Given the description of an element on the screen output the (x, y) to click on. 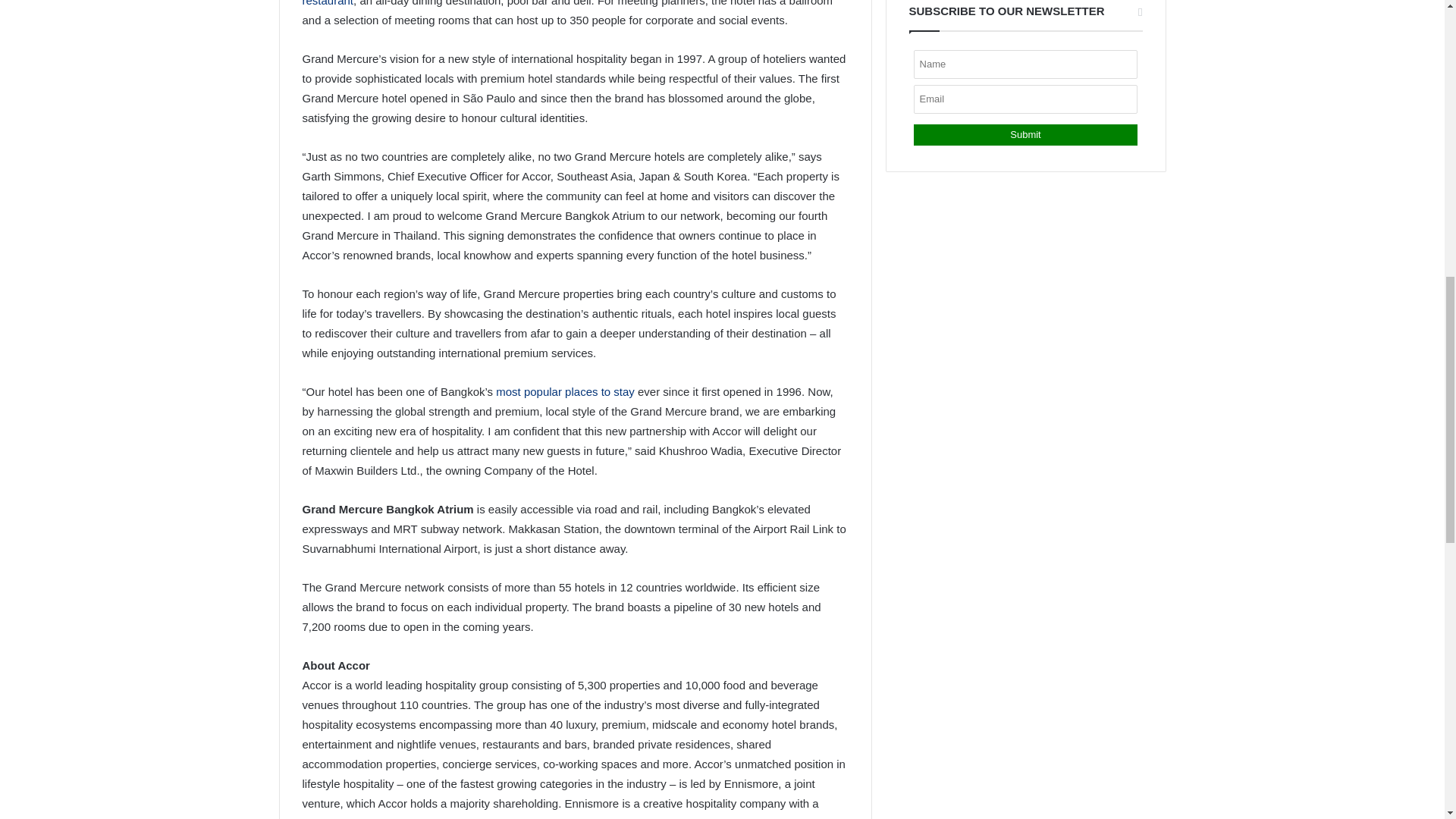
Submit (1025, 134)
